Given the description of an element on the screen output the (x, y) to click on. 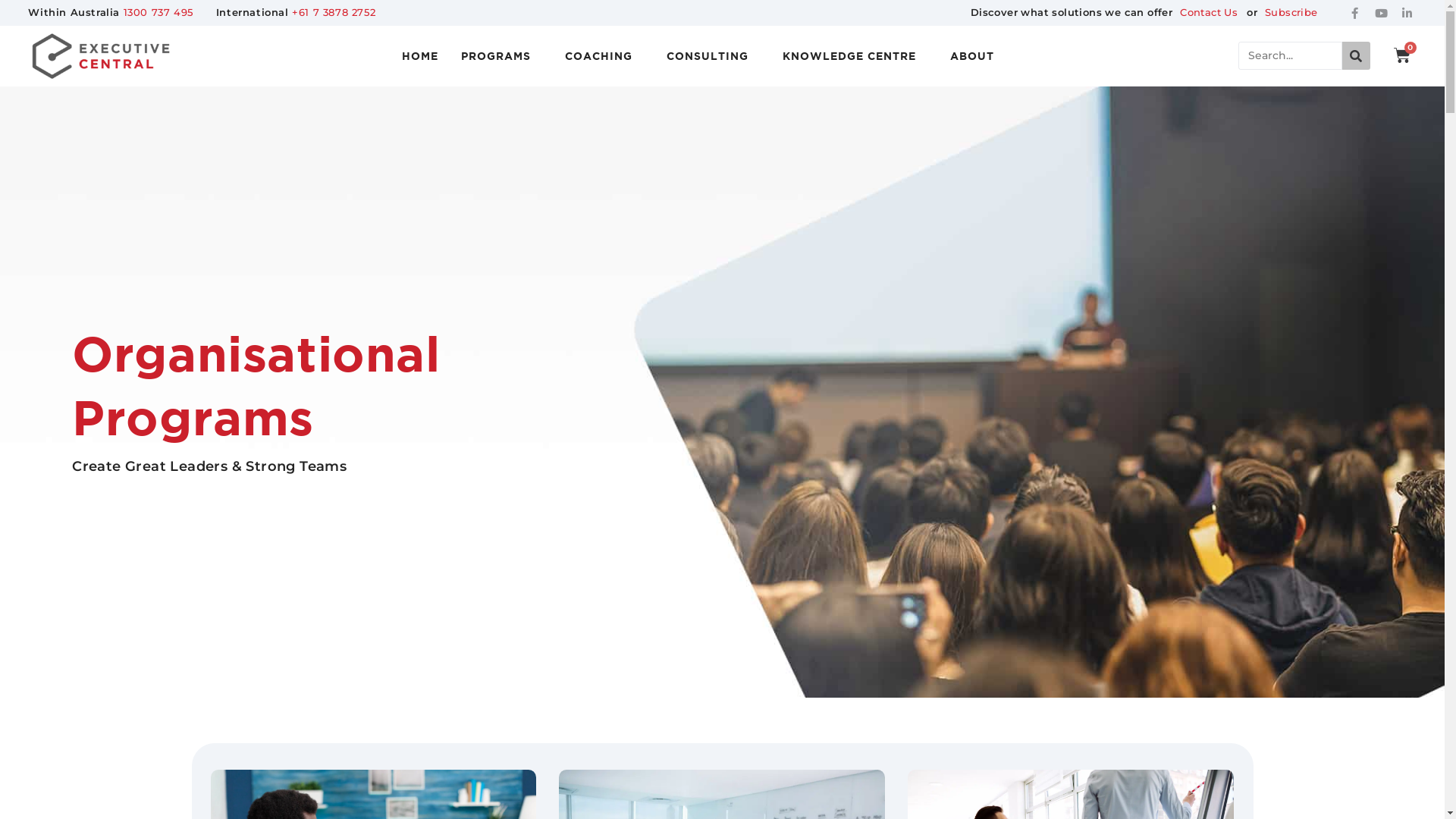
ABOUT Element type: text (977, 55)
International +61 7 3878 2752 Element type: text (295, 12)
0 Element type: text (1402, 54)
CONSULTING Element type: text (713, 55)
Contact Us Element type: text (1213, 12)
Within Australia 1300 737 495 Element type: text (110, 12)
KNOWLEDGE CENTRE Element type: text (854, 55)
Subscribe Element type: text (1290, 12)
HOME Element type: text (418, 55)
COACHING Element type: text (604, 55)
PROGRAMS Element type: text (500, 55)
